Given the description of an element on the screen output the (x, y) to click on. 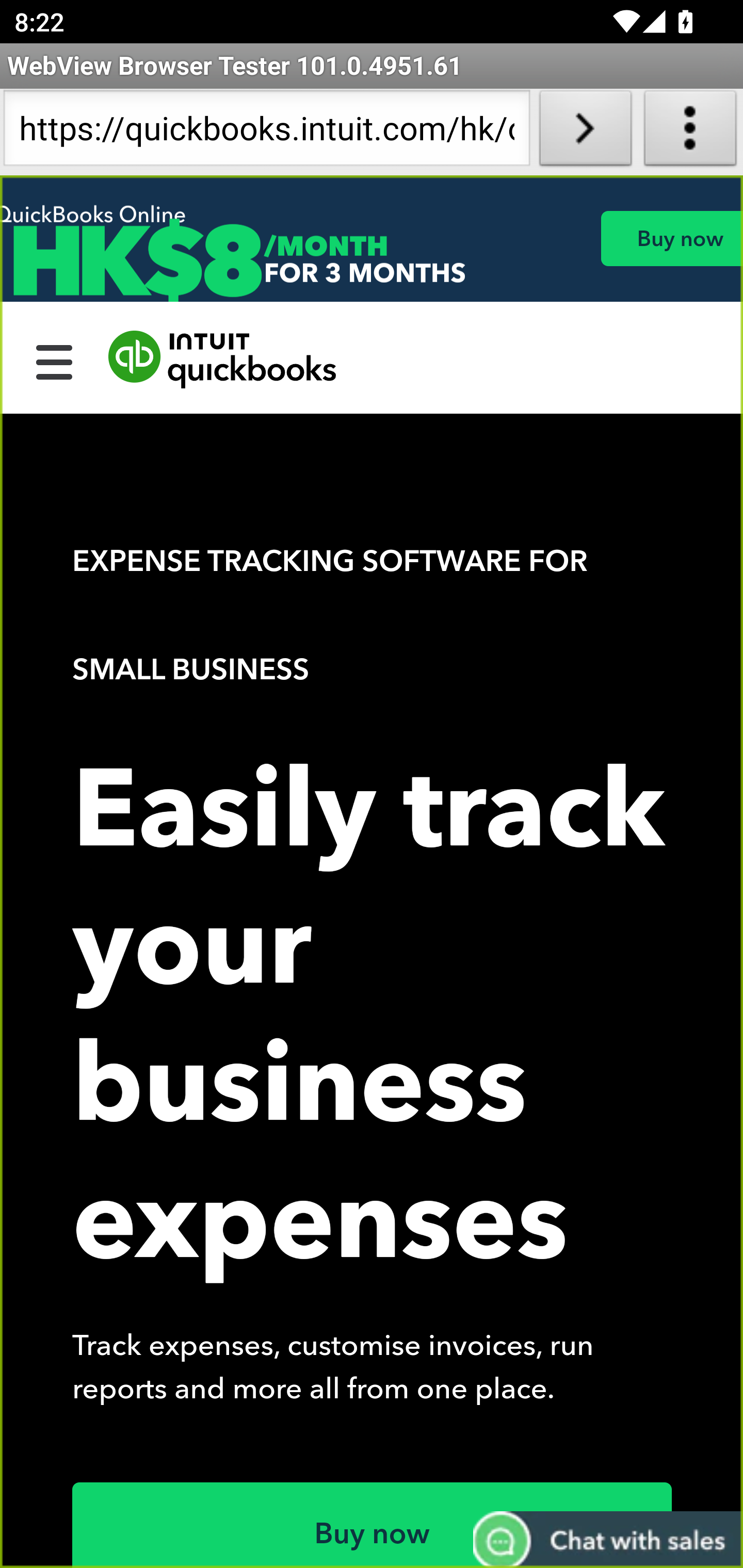
Load URL (585, 132)
About WebView (690, 132)
Buy now (671, 238)
quickbooks-mobile-burger (54, 359)
quickbooks (222, 359)
Buy now (372, 1524)
